Given the description of an element on the screen output the (x, y) to click on. 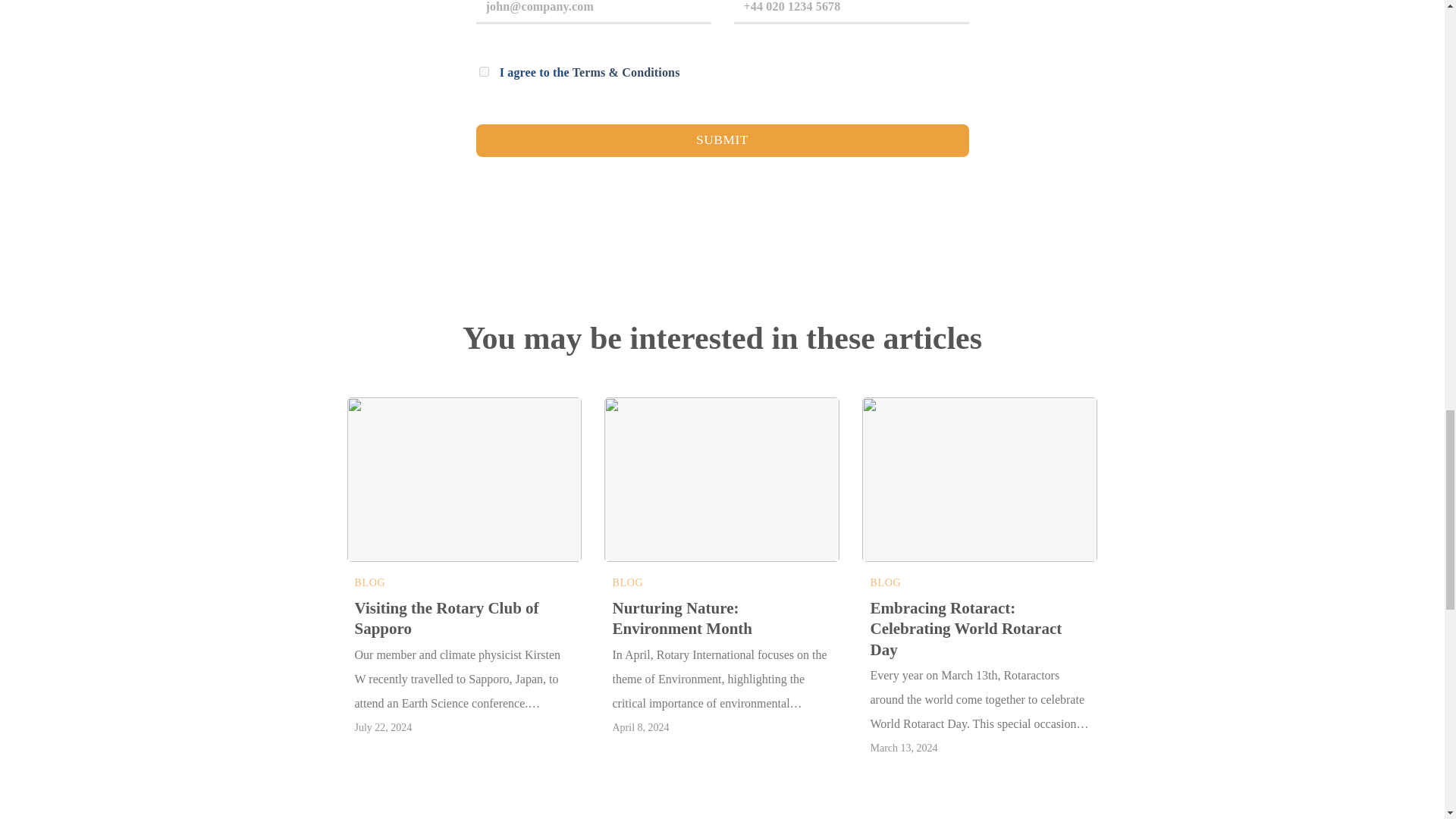
Submit (722, 141)
Clean Water, Better Lives: Water, Sanitation, and Hygiene (1237, 618)
Embracing Rotaract: Celebrating World Rotaract Day (979, 629)
Visiting the Rotary Club of Sapporo (465, 618)
Nurturing Nature: Environment Month (721, 618)
Submit (722, 141)
1 (484, 71)
